Given the description of an element on the screen output the (x, y) to click on. 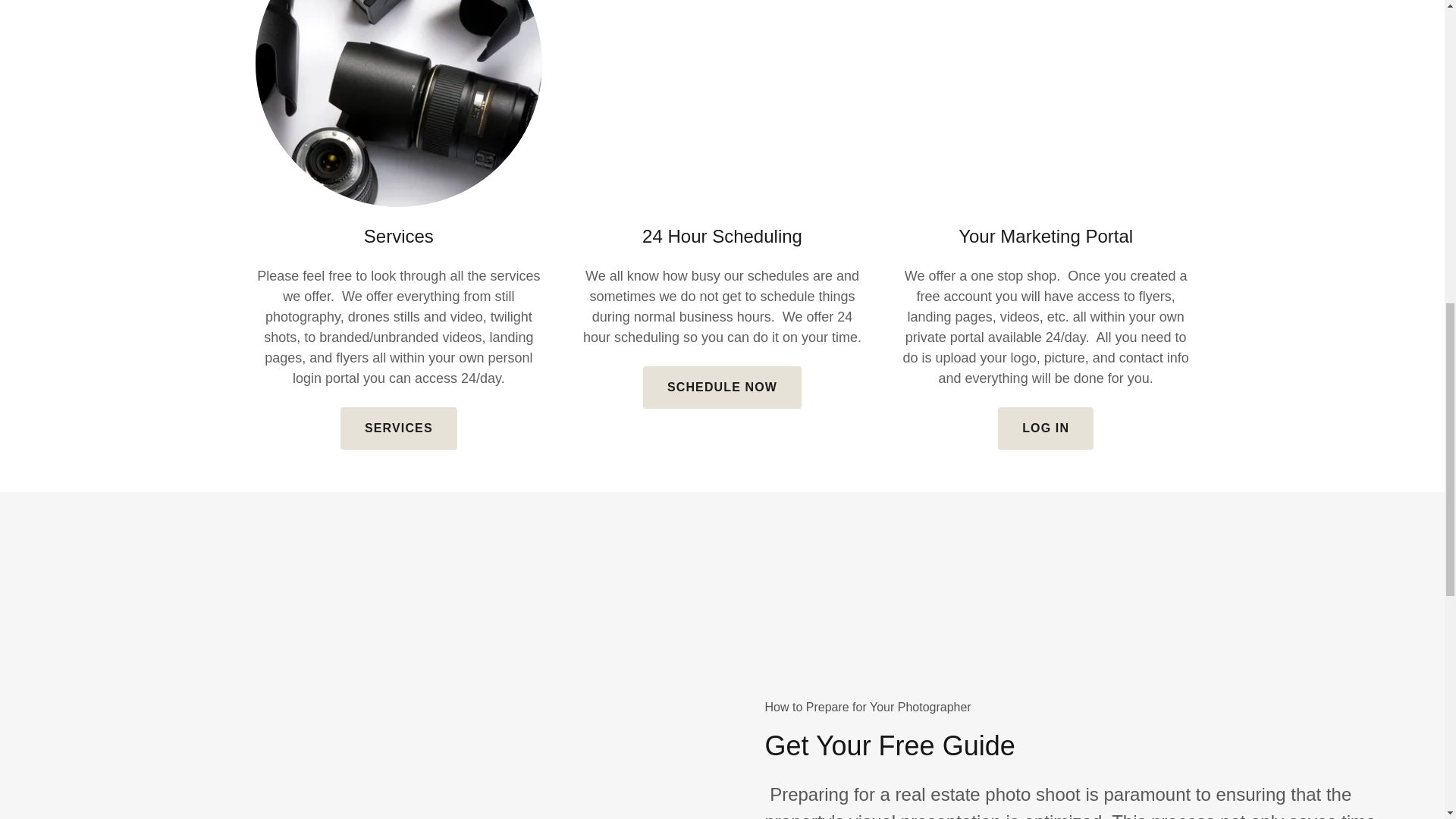
LOG IN (1045, 428)
ACCEPT (1274, 324)
SCHEDULE NOW (722, 387)
SERVICES (398, 428)
